Given the description of an element on the screen output the (x, y) to click on. 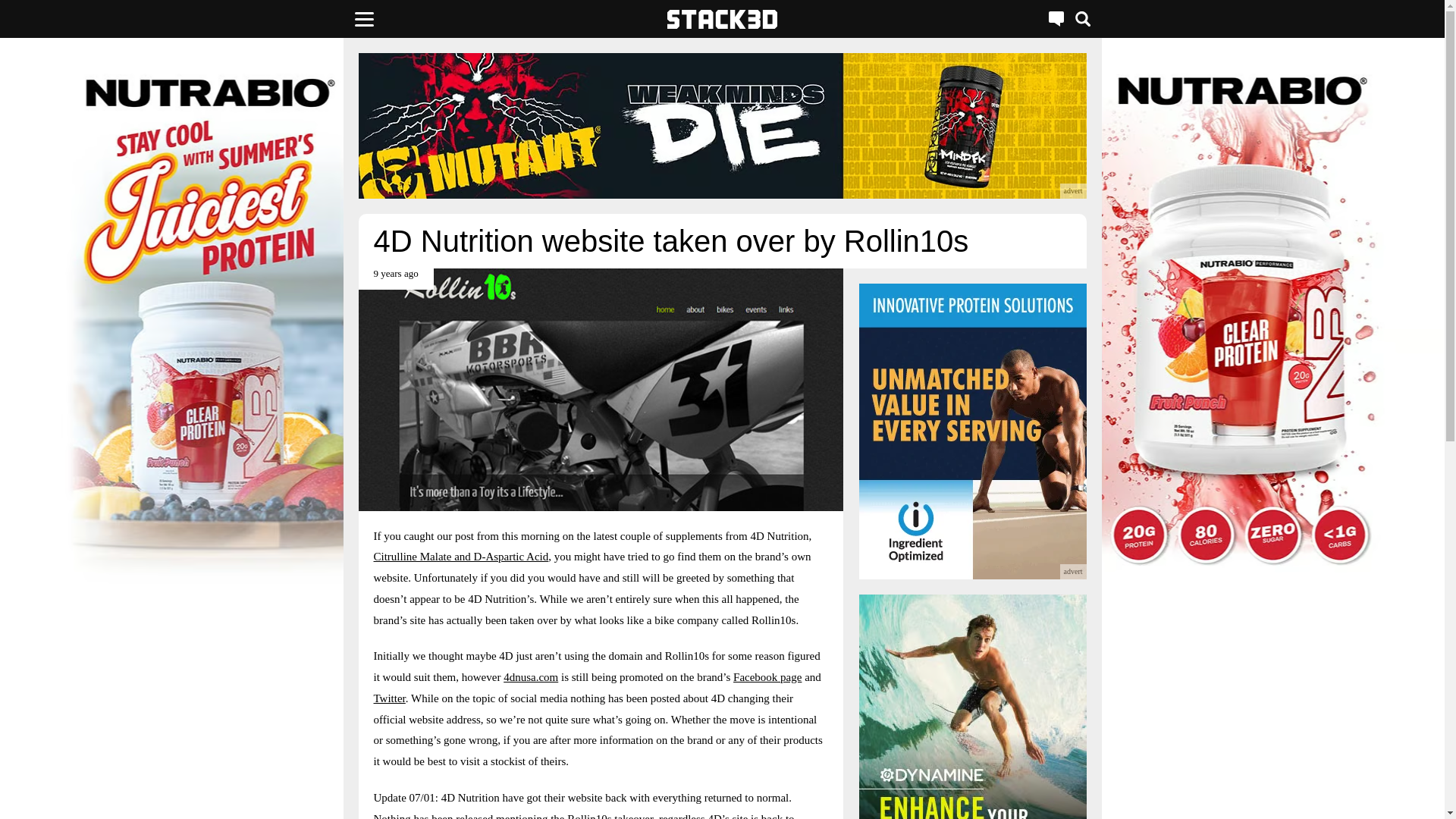
Facebook page (767, 676)
Citrulline Malate and D-Aspartic Acid (460, 556)
4dnusa.com (530, 676)
Twitter (388, 698)
June 24th 2015 (395, 278)
